Given the description of an element on the screen output the (x, y) to click on. 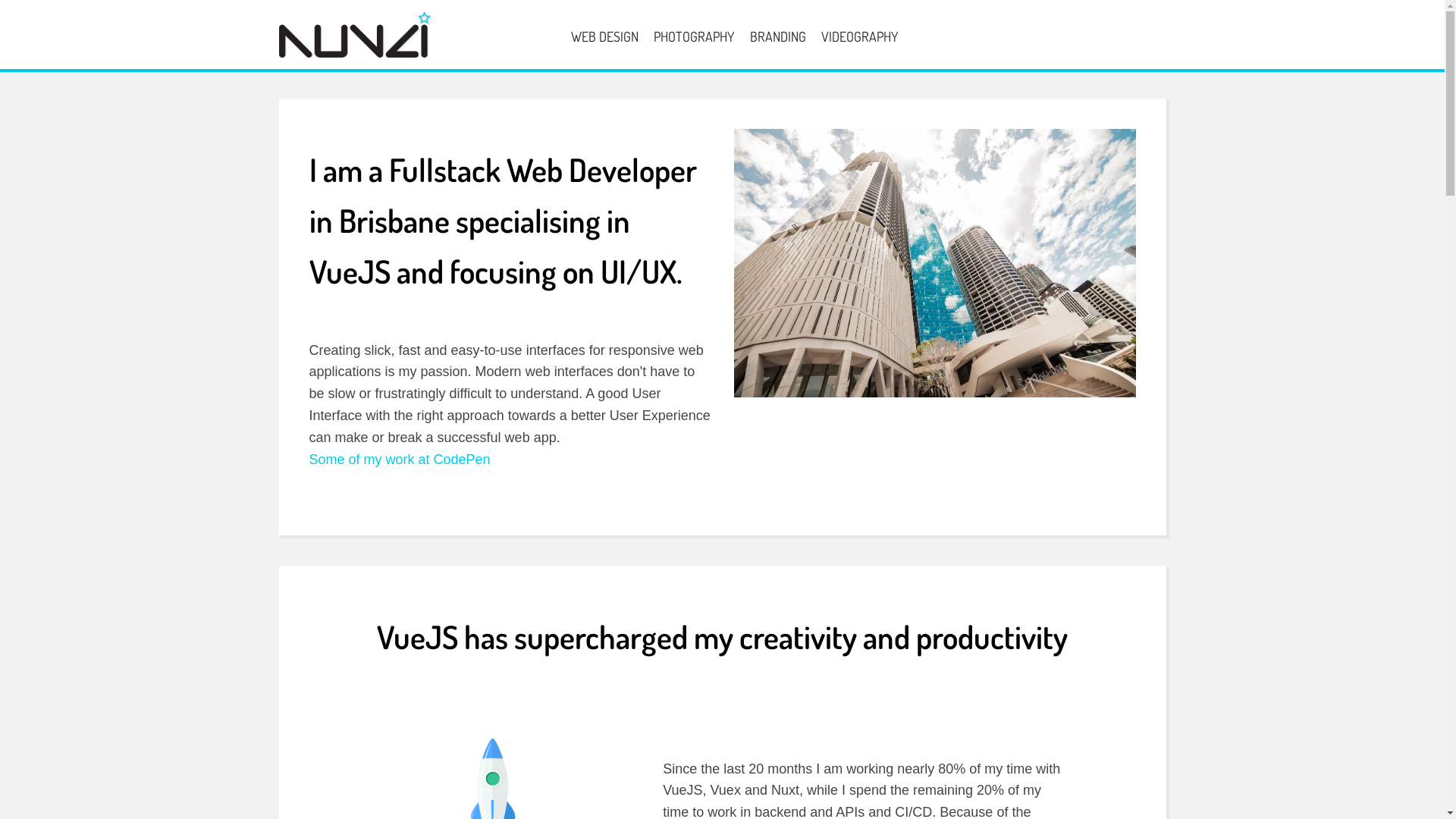
Some of my work at CodePen Element type: text (399, 459)
WEB DESIGN Element type: text (603, 36)
PHOTOGRAPHY Element type: text (693, 36)
BRANDING Element type: text (777, 36)
VIDEOGRAPHY Element type: text (858, 36)
